Given the description of an element on the screen output the (x, y) to click on. 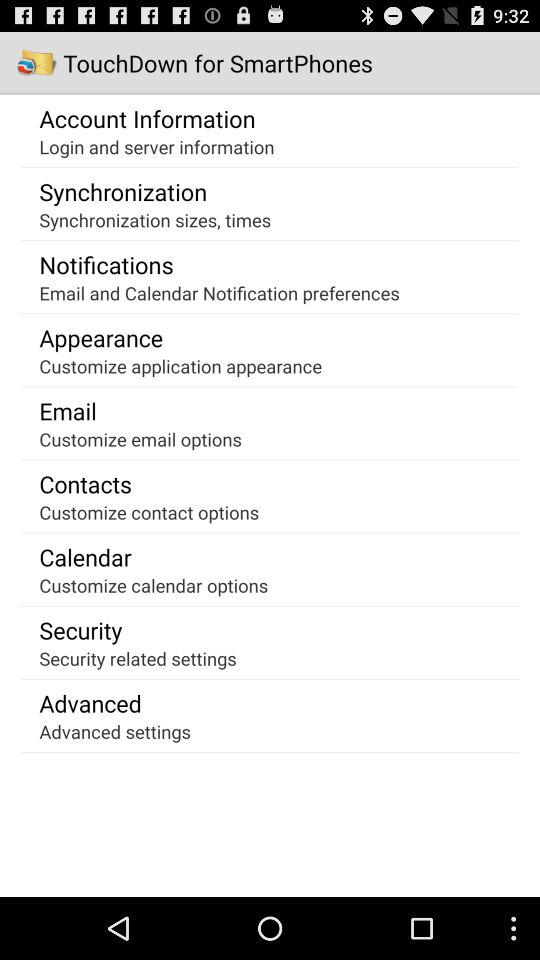
jump until email and calendar icon (219, 292)
